Given the description of an element on the screen output the (x, y) to click on. 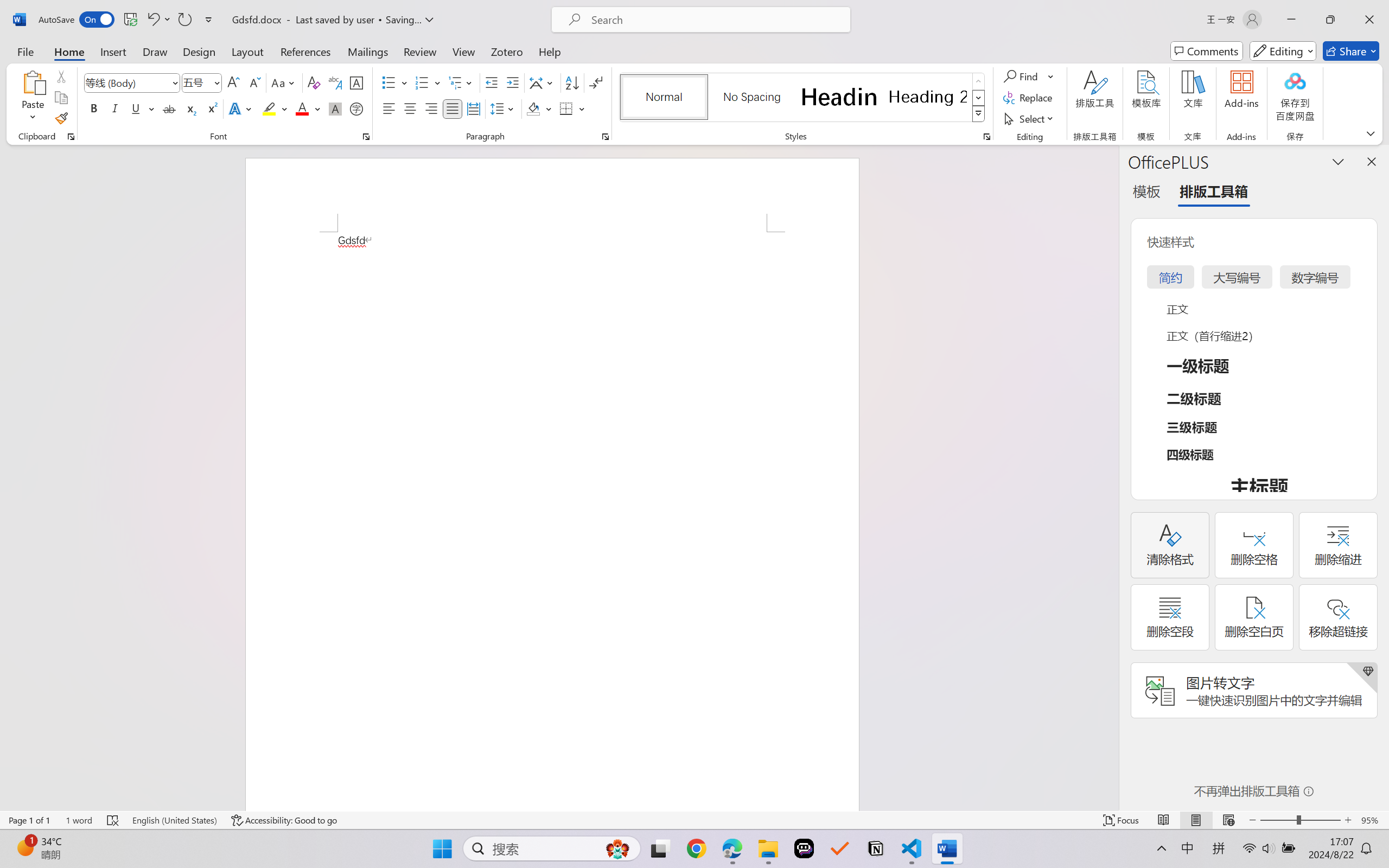
Class: NetUIScrollBar (1111, 477)
AutomationID: QuickStylesGallery (802, 97)
